Given the description of an element on the screen output the (x, y) to click on. 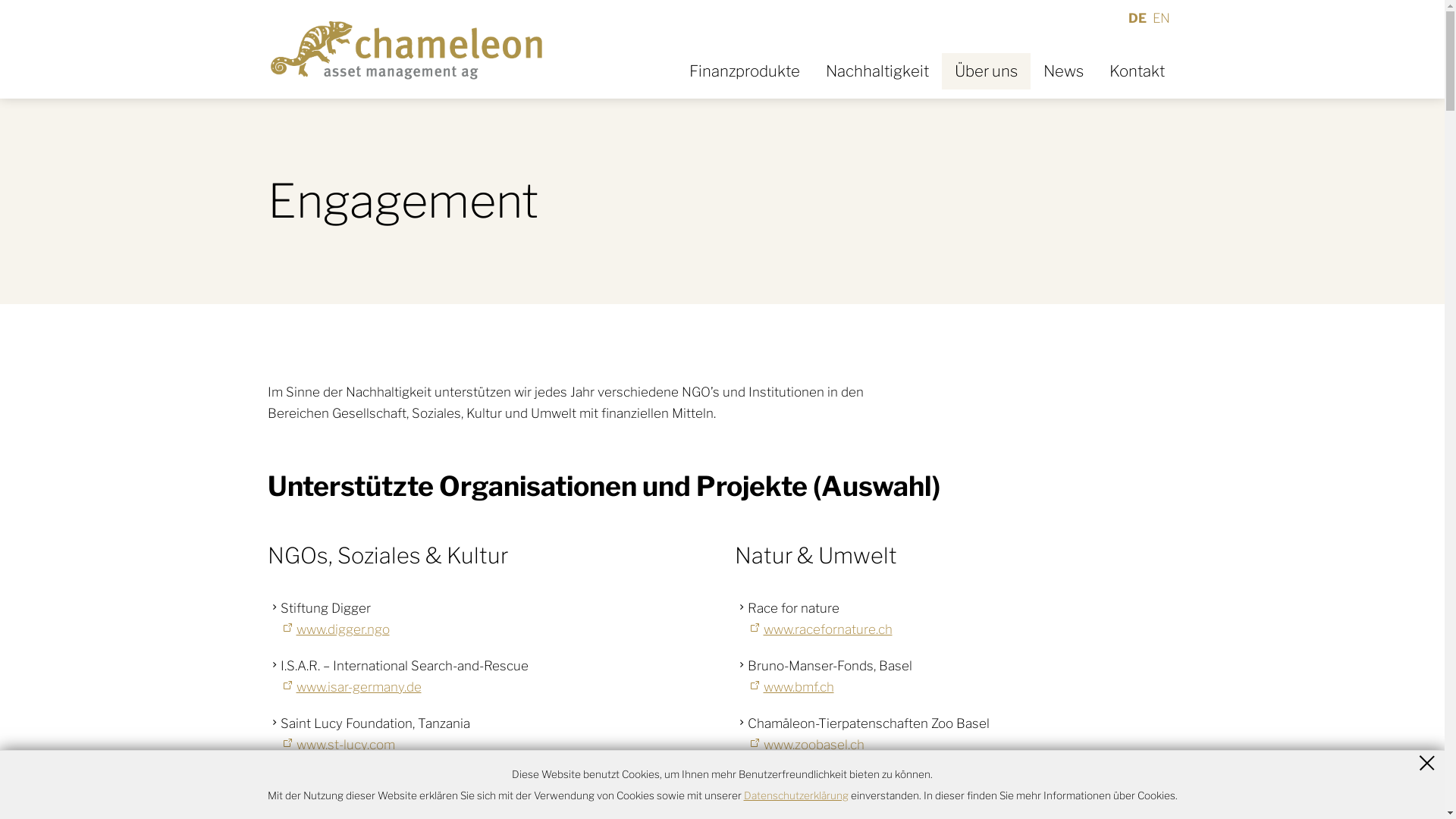
www.ffw.ch Element type: text (320, 801)
www.digger.ngo Element type: text (334, 629)
Kontakt Element type: text (1136, 71)
www.racefornature.ch Element type: text (819, 629)
DE Element type: text (1138, 17)
www.zoobasel.ch Element type: text (805, 744)
www.isar-germany.de Element type: text (350, 686)
Finanzprodukte Element type: text (744, 71)
News Element type: text (1062, 71)
www.st-lucy.com Element type: text (337, 744)
Nachhaltigkeit Element type: text (876, 71)
www.bmf.ch Element type: text (790, 686)
EN Element type: text (1159, 17)
Zur Startseite Element type: hover (405, 49)
